Given the description of an element on the screen output the (x, y) to click on. 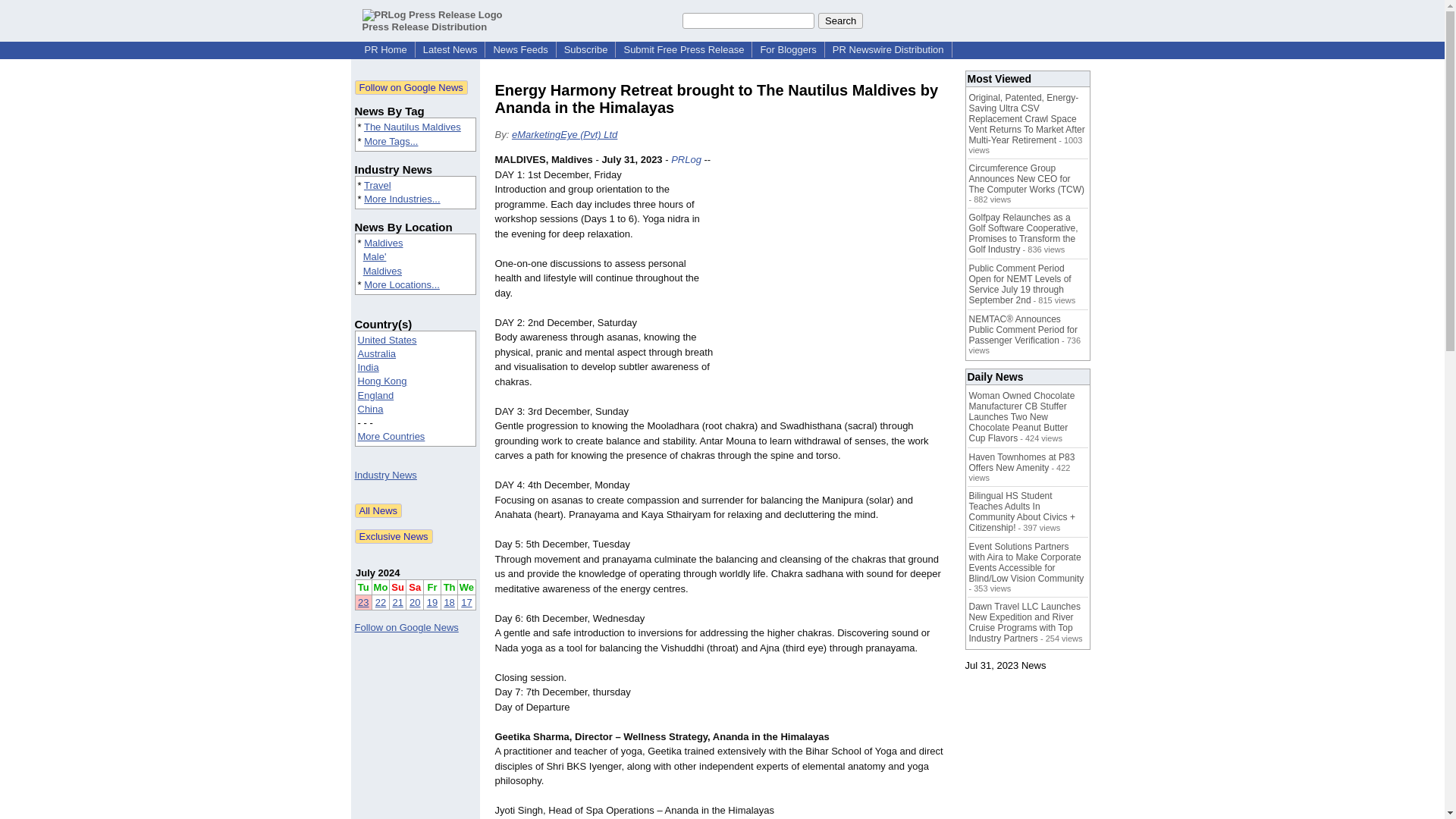
20 (414, 602)
All News (379, 510)
23 (363, 602)
Hong Kong (382, 380)
More Countries (391, 436)
All News (379, 510)
More Tags... (390, 141)
Follow on Google News (411, 87)
Industry News (385, 474)
Press Release Distribution (432, 20)
More Locations... (401, 284)
Search (840, 20)
Follow on Google News (406, 627)
Travel (377, 184)
22 (380, 602)
